Given the description of an element on the screen output the (x, y) to click on. 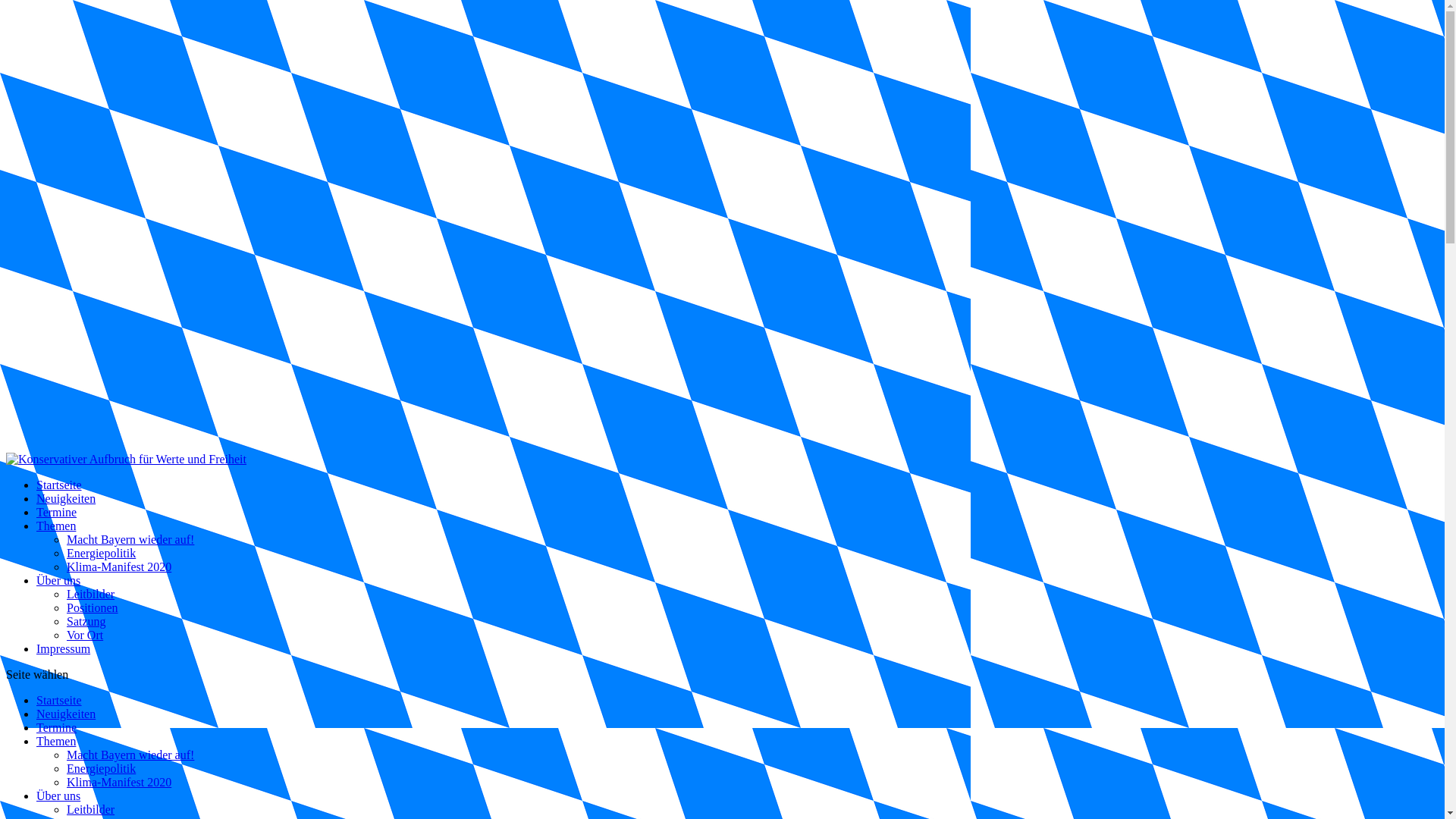
Termine Element type: text (56, 727)
Energiepolitik Element type: text (100, 552)
Startseite Element type: text (58, 699)
Klima-Manifest 2020 Element type: text (118, 566)
Positionen Element type: text (92, 607)
Macht Bayern wieder auf! Element type: text (130, 539)
Impressum Element type: text (63, 648)
Themen Element type: text (55, 525)
Leitbilder Element type: text (90, 809)
Startseite Element type: text (58, 484)
Leitbilder Element type: text (90, 593)
Vor Ort Element type: text (84, 634)
Macht Bayern wieder auf! Element type: text (130, 754)
Neuigkeiten Element type: text (65, 713)
Themen Element type: text (55, 740)
Energiepolitik Element type: text (100, 768)
Satzung Element type: text (86, 621)
Klima-Manifest 2020 Element type: text (118, 781)
Neuigkeiten Element type: text (65, 498)
Termine Element type: text (56, 511)
